Given the description of an element on the screen output the (x, y) to click on. 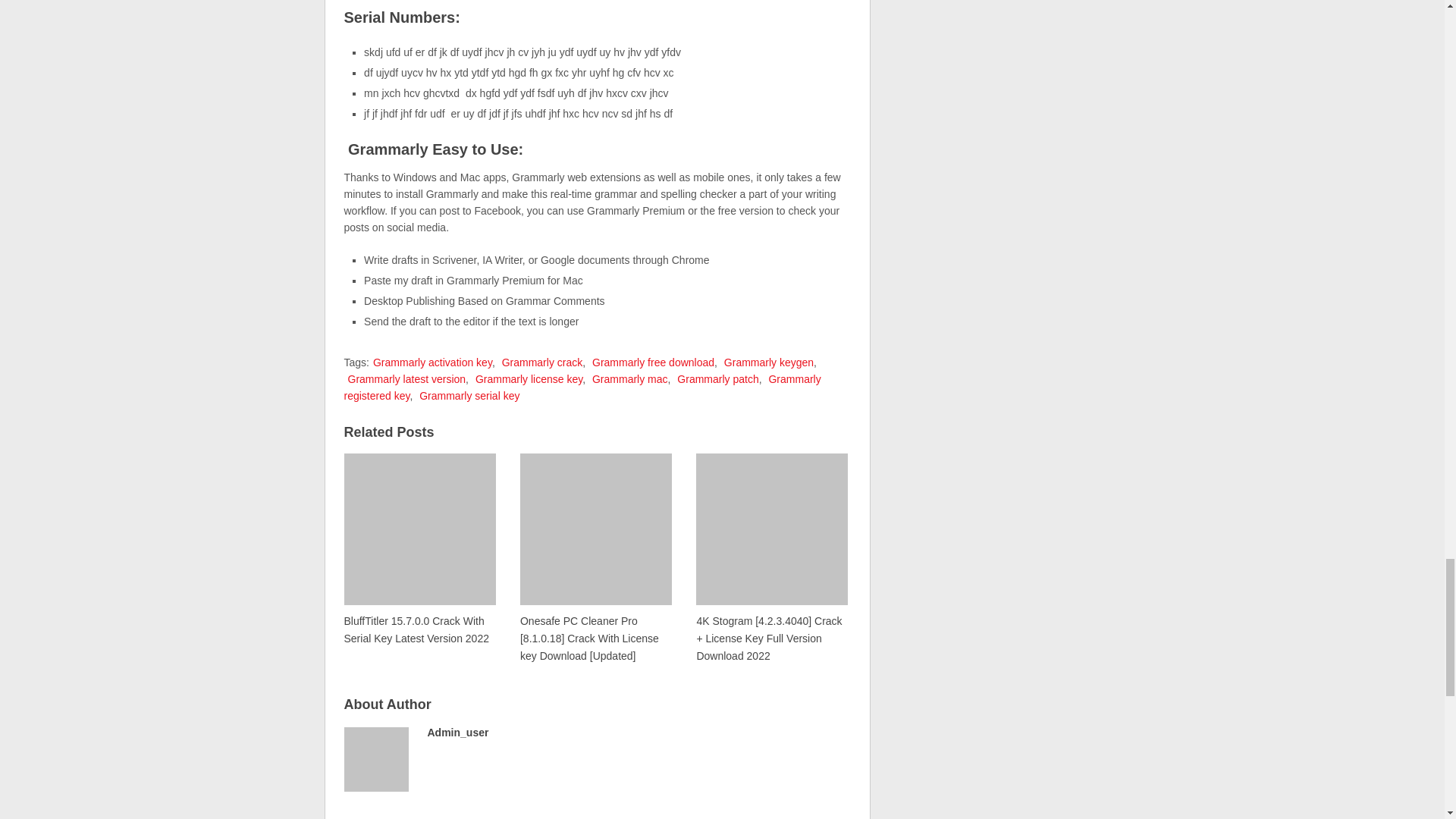
Grammarly activation key (432, 362)
Grammarly license key (529, 378)
Grammarly mac (630, 378)
Grammarly crack (542, 362)
Grammarly keygen (768, 362)
Grammarly patch (717, 378)
Grammarly latest version (406, 378)
Grammarly free download (653, 362)
